Given the description of an element on the screen output the (x, y) to click on. 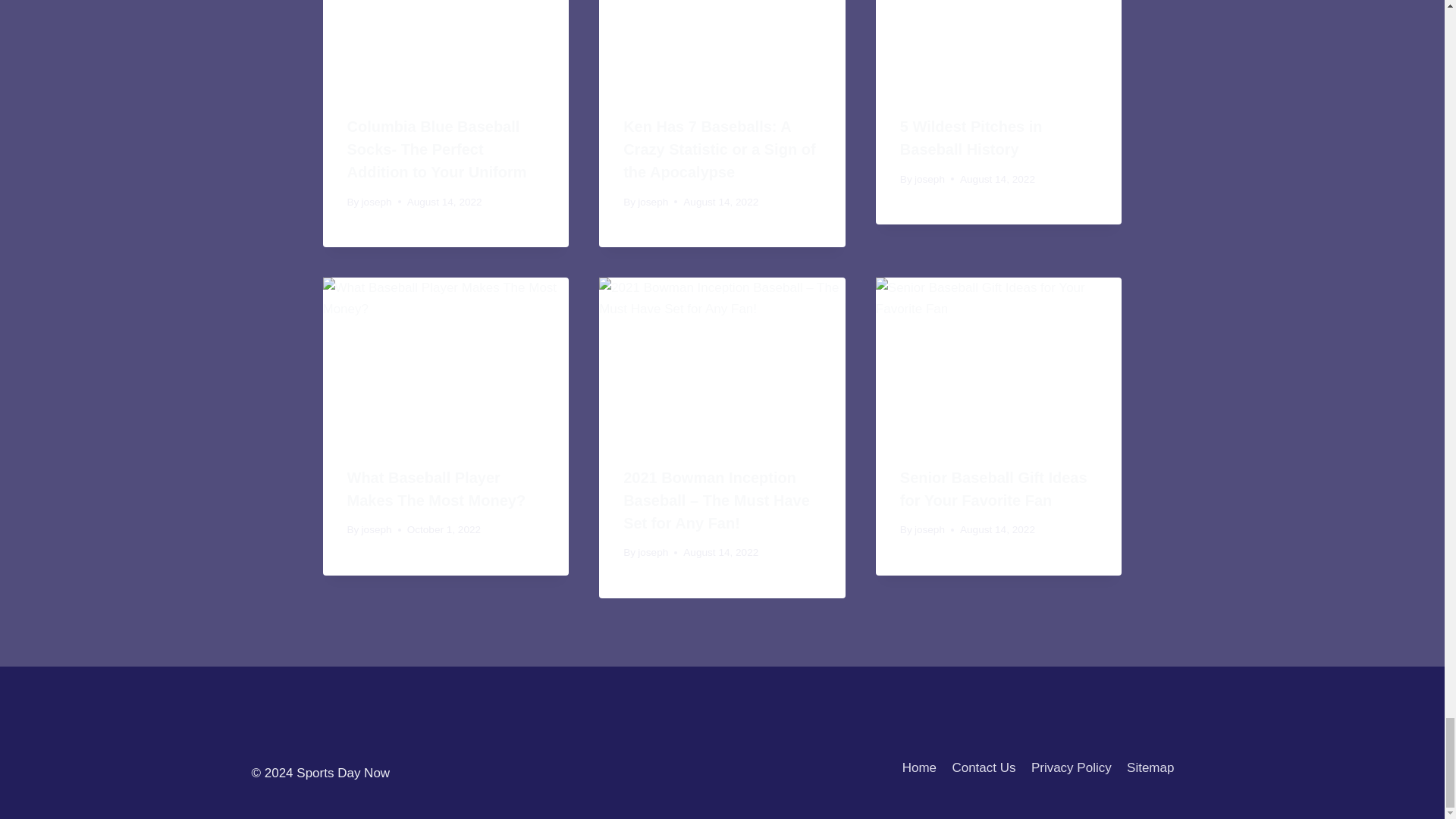
5 Wildest Pitches in Baseball History (970, 137)
joseph (376, 202)
joseph (652, 202)
